Given the description of an element on the screen output the (x, y) to click on. 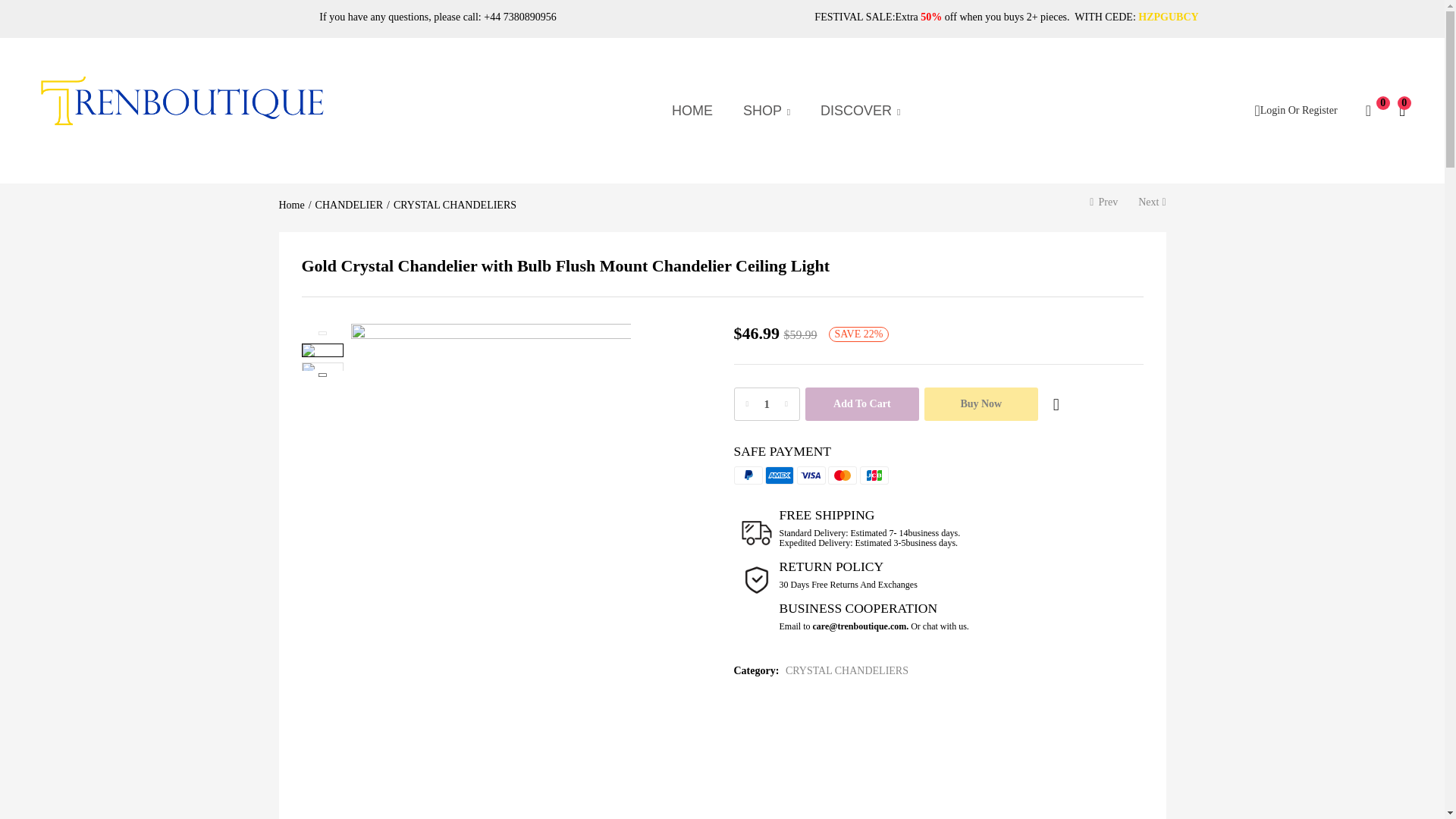
American Express (779, 475)
Mastercard (842, 475)
Visa (810, 475)
1 (766, 404)
JCB (874, 475)
PayPal (747, 475)
